Given the description of an element on the screen output the (x, y) to click on. 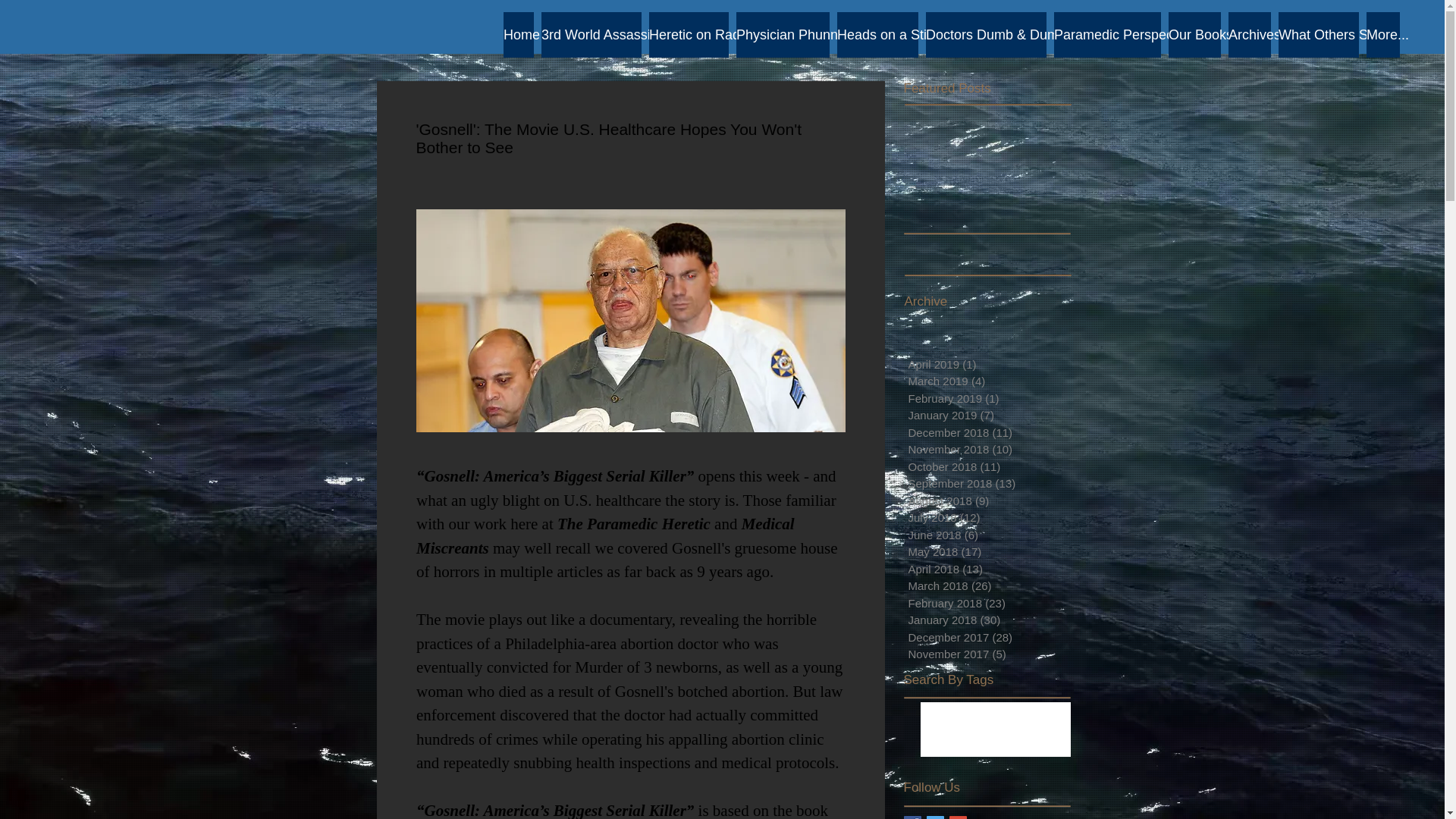
3rd World Assassins (591, 34)
What Others Say (1318, 34)
Our Books (1195, 34)
Paramedic Perspective (1107, 34)
Heretic on Radio (689, 34)
Heads on a Stick (877, 34)
Archives (1249, 34)
Physician Phunnies (782, 34)
